Given the description of an element on the screen output the (x, y) to click on. 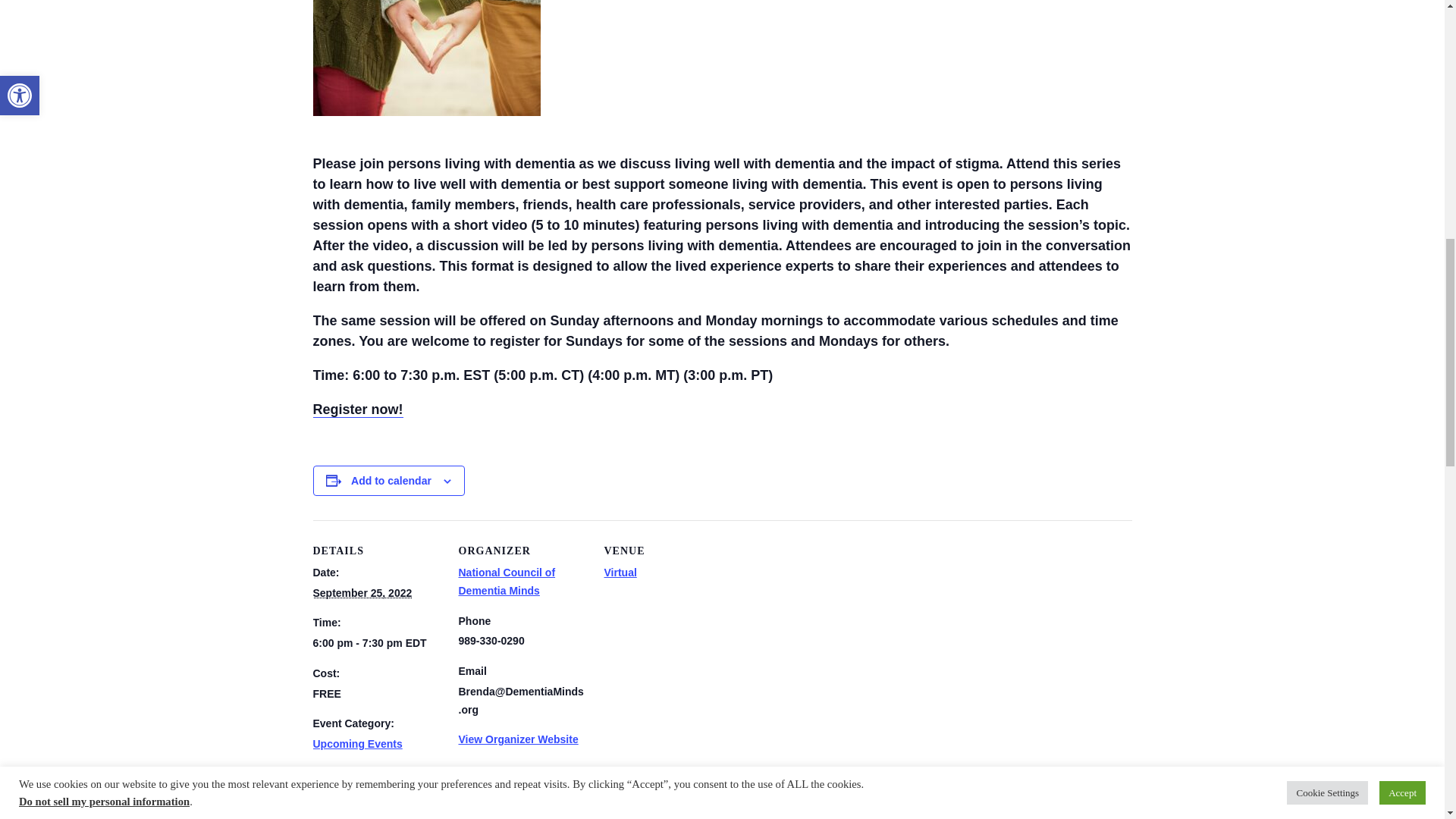
2022-09-25 (376, 643)
2022-09-25 (362, 592)
National Council of Dementia Minds (506, 581)
